Given the description of an element on the screen output the (x, y) to click on. 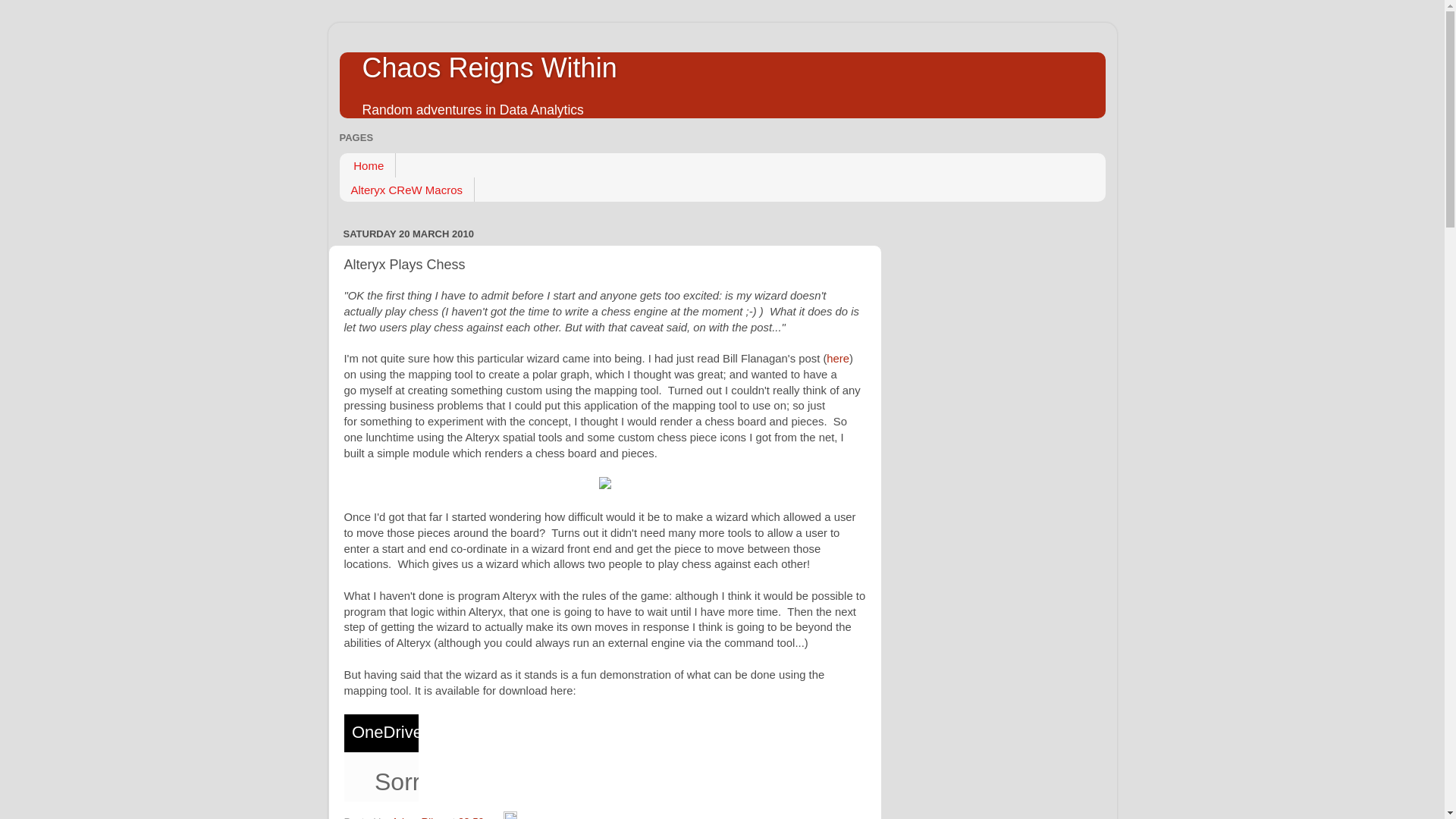
author profile (418, 817)
Adam Riley (418, 817)
here (837, 358)
Email Post (494, 817)
Home (367, 165)
Alteryx CReW Macros (407, 189)
permanent link (470, 817)
Edit Post (509, 817)
23:59 (470, 817)
Chaos Reigns Within (489, 67)
